Given the description of an element on the screen output the (x, y) to click on. 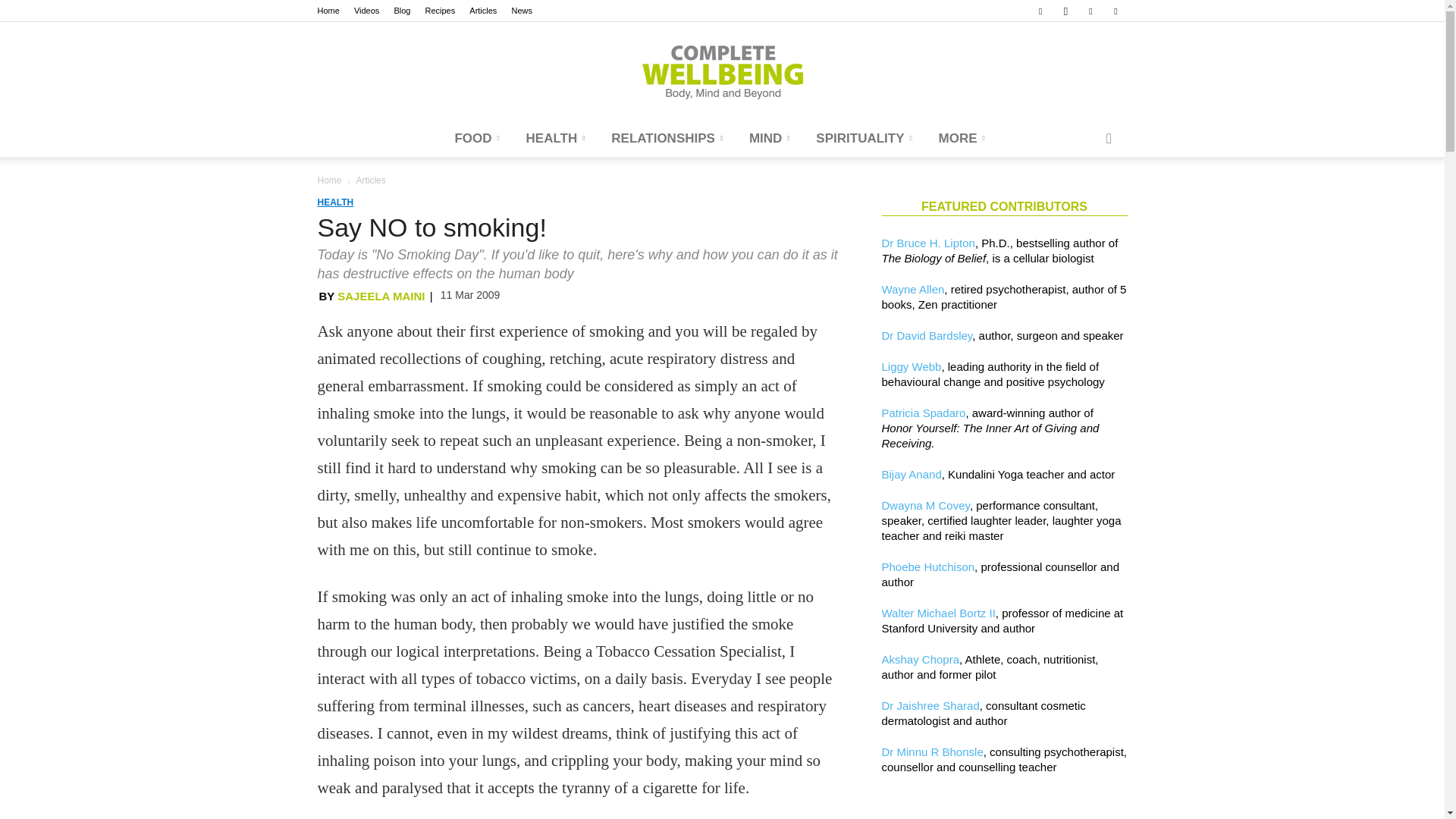
Posts by Sajeela Maini (381, 295)
Pinterest (1090, 10)
Twitter (1114, 10)
Facebook (1040, 10)
Videos (365, 10)
Instagram (1065, 10)
Recipes (439, 10)
Blog (401, 10)
Home (328, 10)
BODY, MIND AND BEYOND (721, 71)
